Given the description of an element on the screen output the (x, y) to click on. 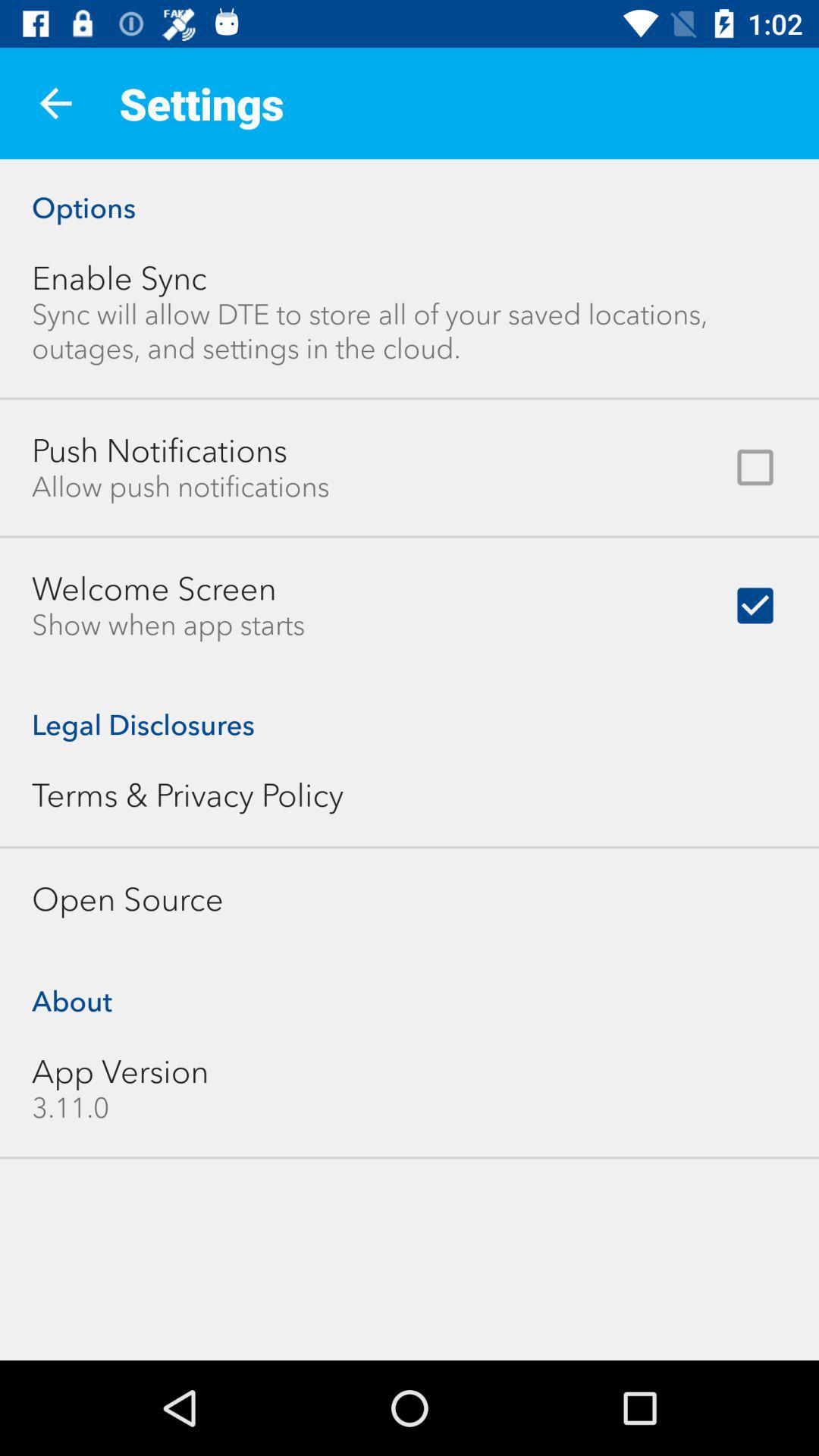
launch item below options (119, 278)
